Given the description of an element on the screen output the (x, y) to click on. 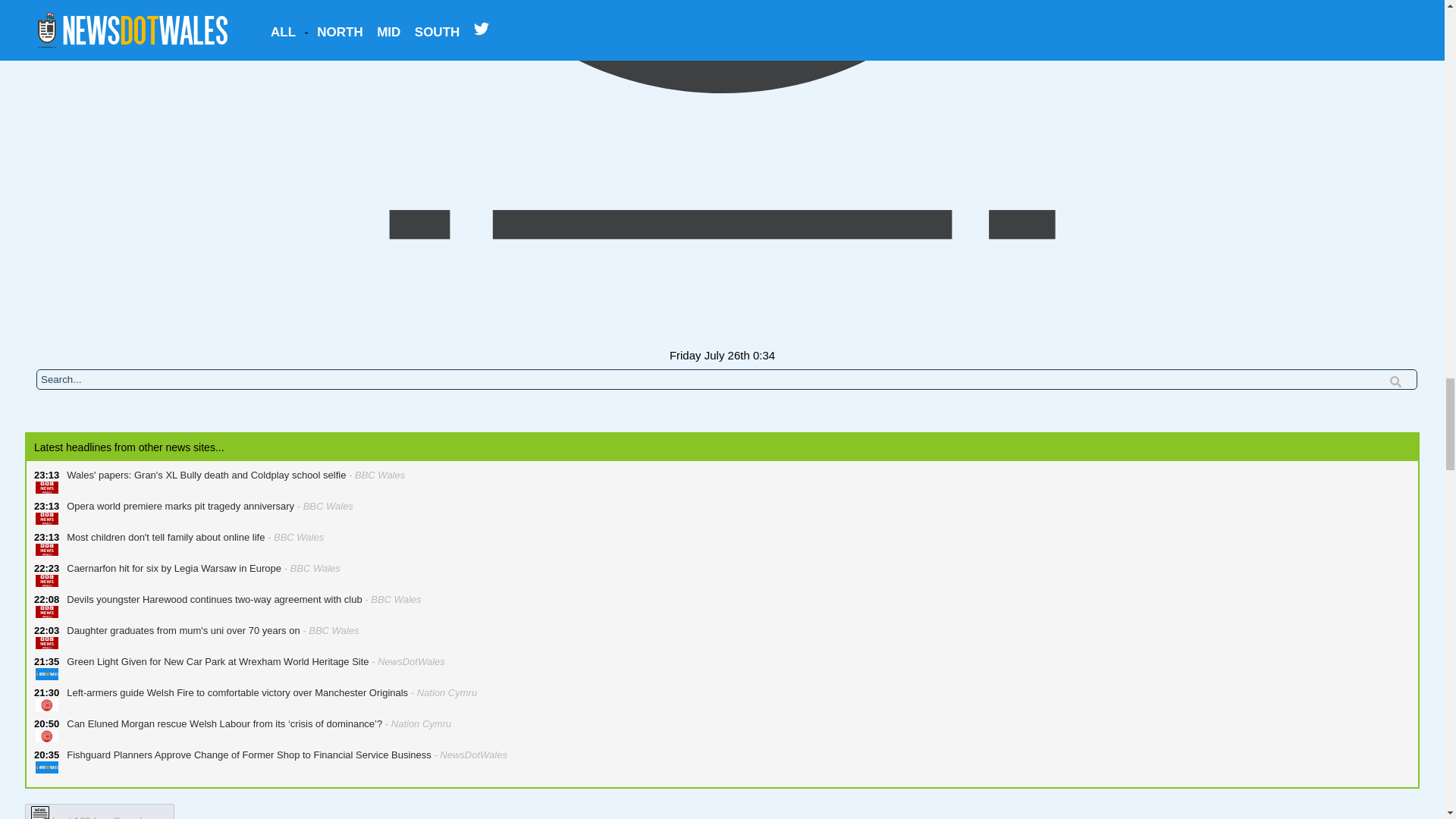
Last 100 headlines here... (99, 816)
Caernarfon hit for six by Legia Warsaw in Europe - BBC Wales (199, 575)
Last 100 headlines here... (99, 811)
